Given the description of an element on the screen output the (x, y) to click on. 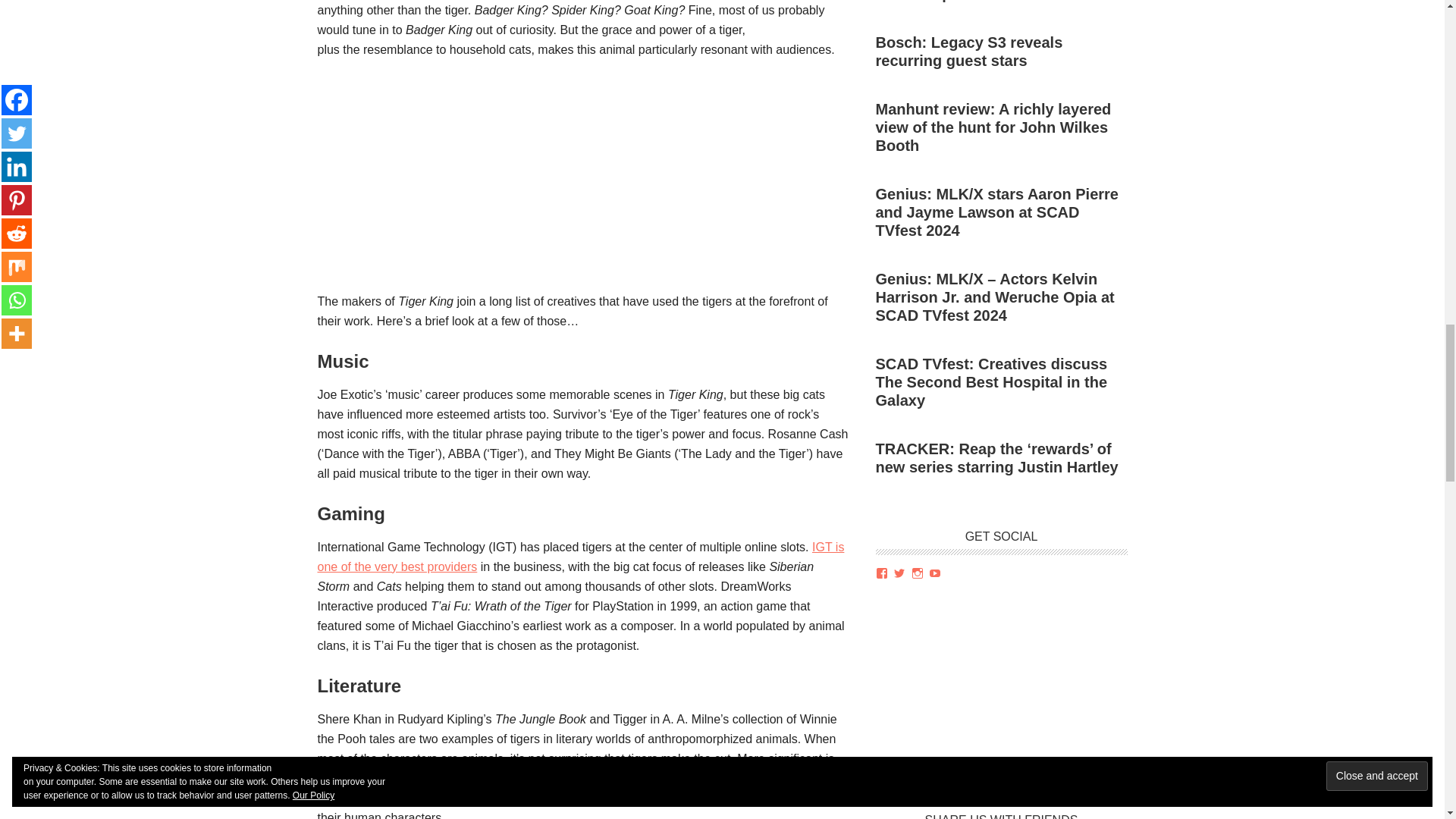
Advertisement (582, 185)
IGT is one of the very best providers (580, 556)
